Given the description of an element on the screen output the (x, y) to click on. 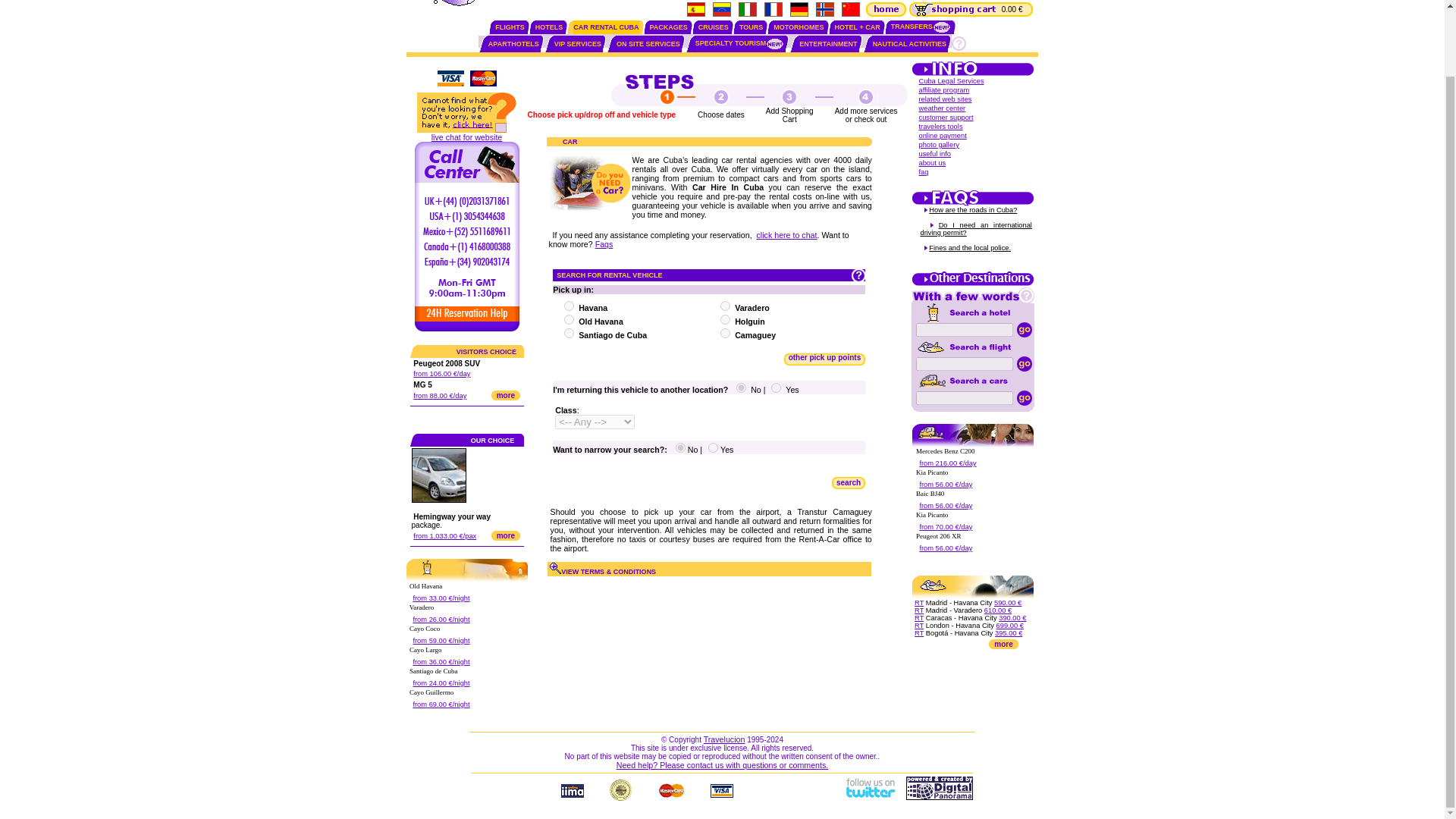
12 (725, 306)
follow us on twitter (868, 796)
CRUISES (713, 27)
CAR RENTAL CUBA (606, 27)
ENTERTAINMENT (828, 43)
TRANSFERS (920, 26)
Other Destinations (972, 284)
0 (680, 447)
4 (568, 319)
APARTHOTELS (512, 43)
HOTELS (549, 27)
NAUTICAL ACTIVITIES (909, 43)
TOURS (750, 27)
FLIGHTS (509, 27)
MOTORHOMES (798, 27)
